Given the description of an element on the screen output the (x, y) to click on. 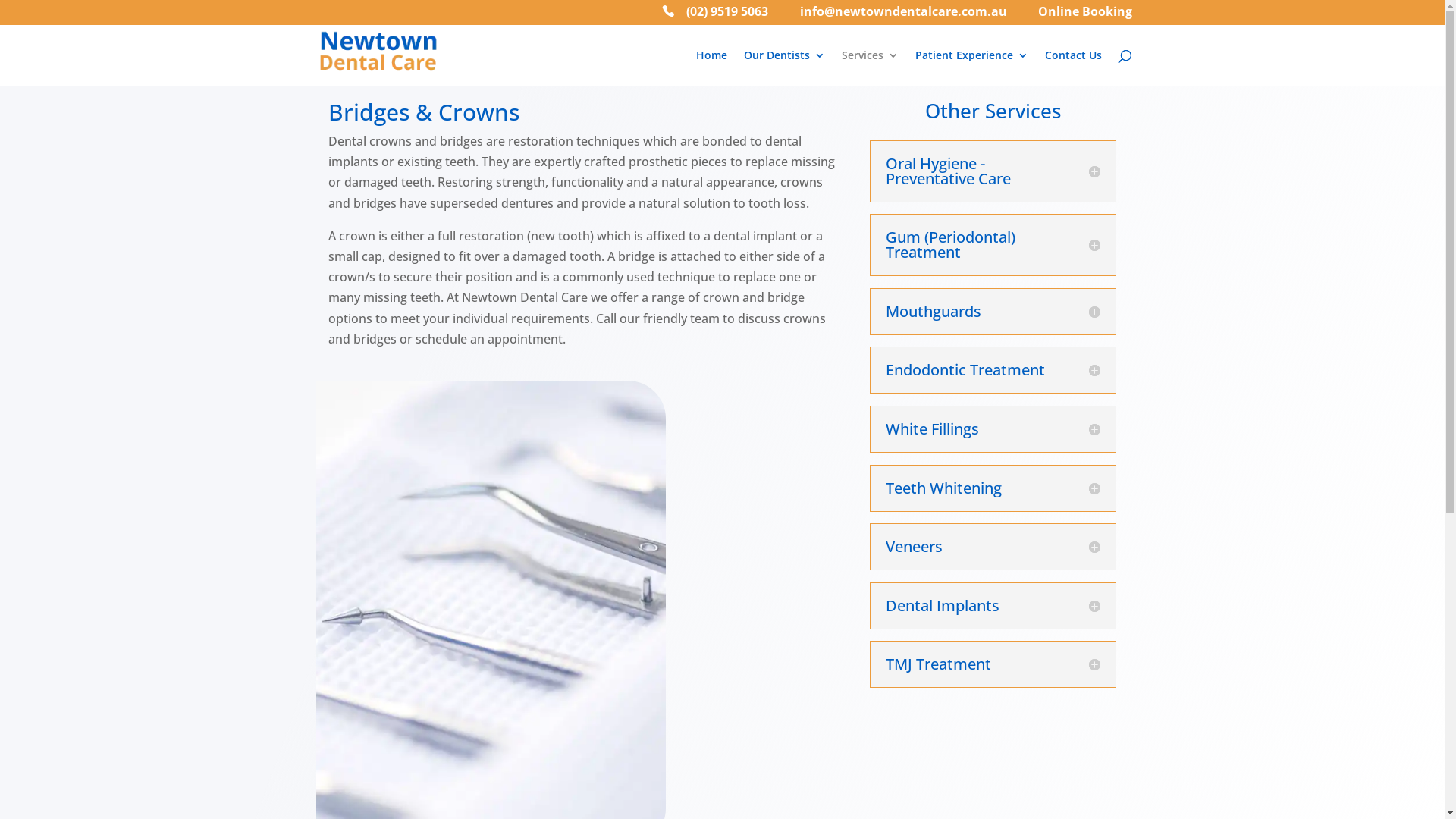
Contact Us Element type: text (1072, 67)
Online Booking Element type: text (1074, 15)
Services Element type: text (869, 67)
(02) 9519 5063 Element type: text (714, 15)
Our Dentists Element type: text (783, 67)
info@newtowndentalcare.com.au Element type: text (893, 15)
Home Element type: text (711, 67)
Patient Experience Element type: text (970, 67)
